Given the description of an element on the screen output the (x, y) to click on. 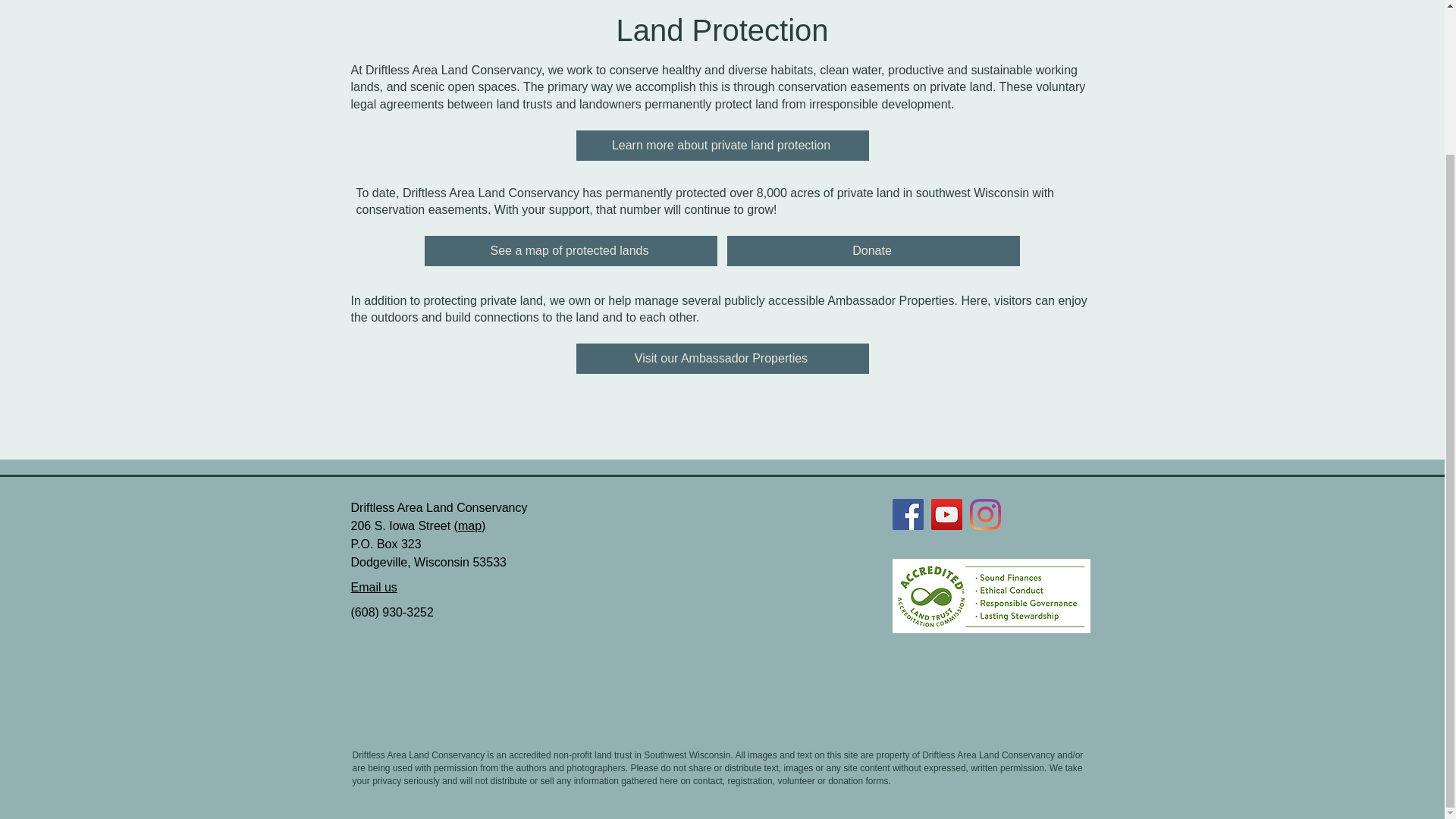
Donate (872, 250)
Email us (373, 586)
Visit our Ambassador Properties (722, 358)
See a map of protected lands (571, 250)
Learn more about private land protection (722, 145)
